Given the description of an element on the screen output the (x, y) to click on. 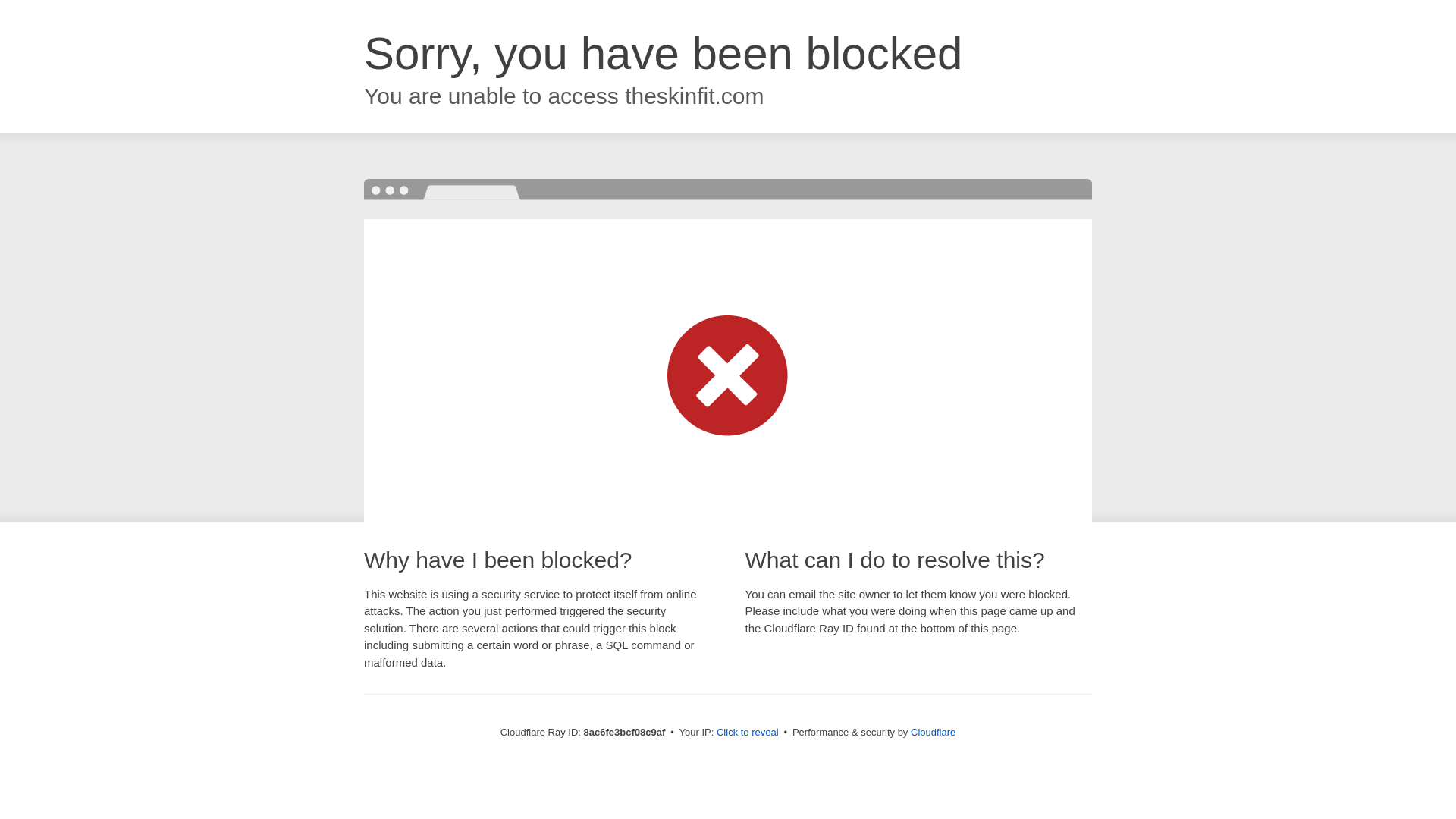
Click to reveal (747, 732)
Cloudflare (933, 731)
